Given the description of an element on the screen output the (x, y) to click on. 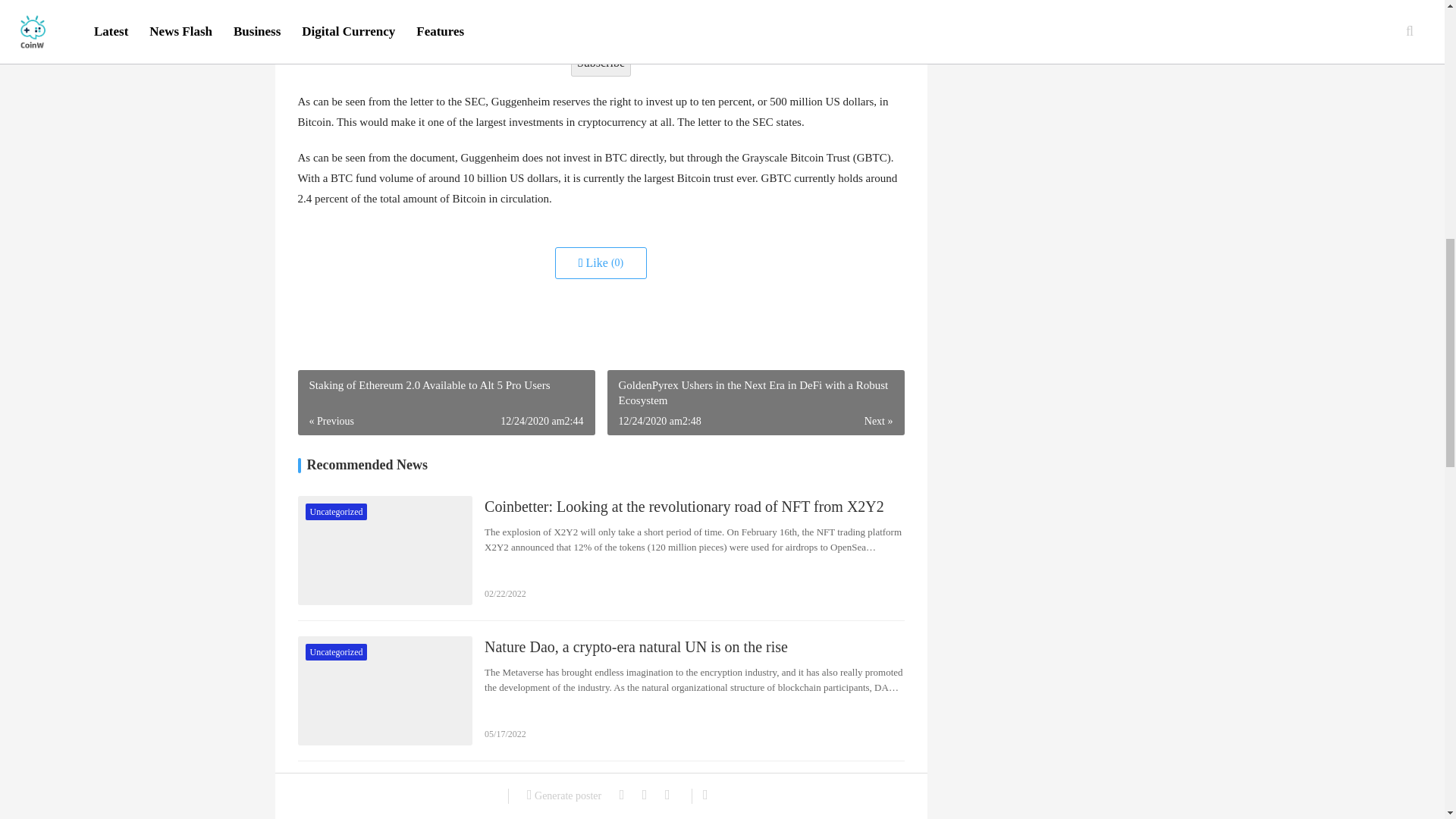
Uncategorized (335, 511)
Uncategorized (335, 791)
Uncategorized (335, 651)
Staking of Ethereum 2.0 Available to Alt 5 Pro Users (445, 402)
Nature Dao, a crypto-era natural UN is on the rise (694, 646)
Staking of Ethereum 2.0 Available to Alt 5 Pro Users (445, 402)
